Given the description of an element on the screen output the (x, y) to click on. 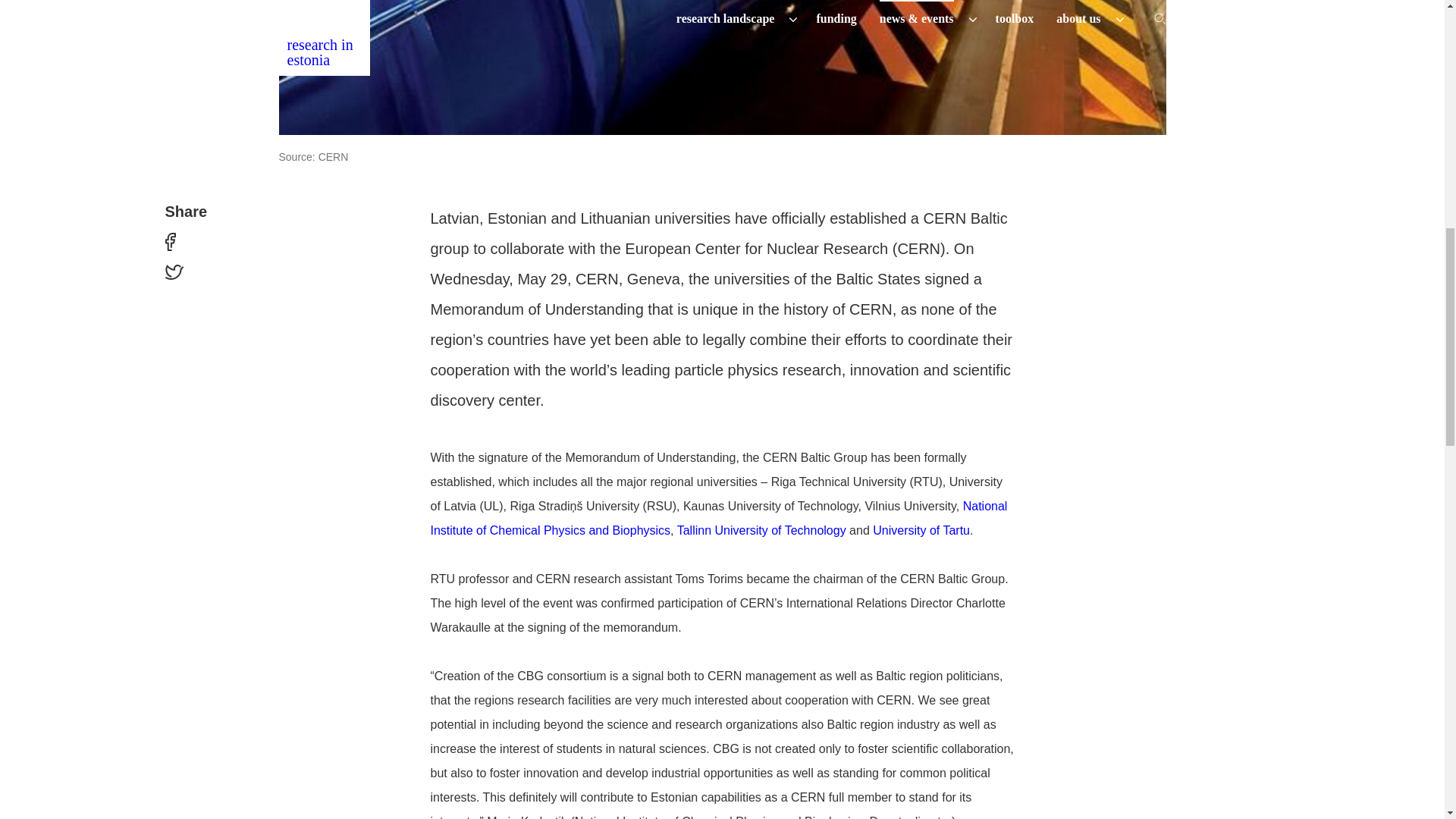
University of Tartu (920, 530)
Tallinn University of Technology (761, 530)
National Institute of Chemical Physics and Biophysics (718, 518)
